Given the description of an element on the screen output the (x, y) to click on. 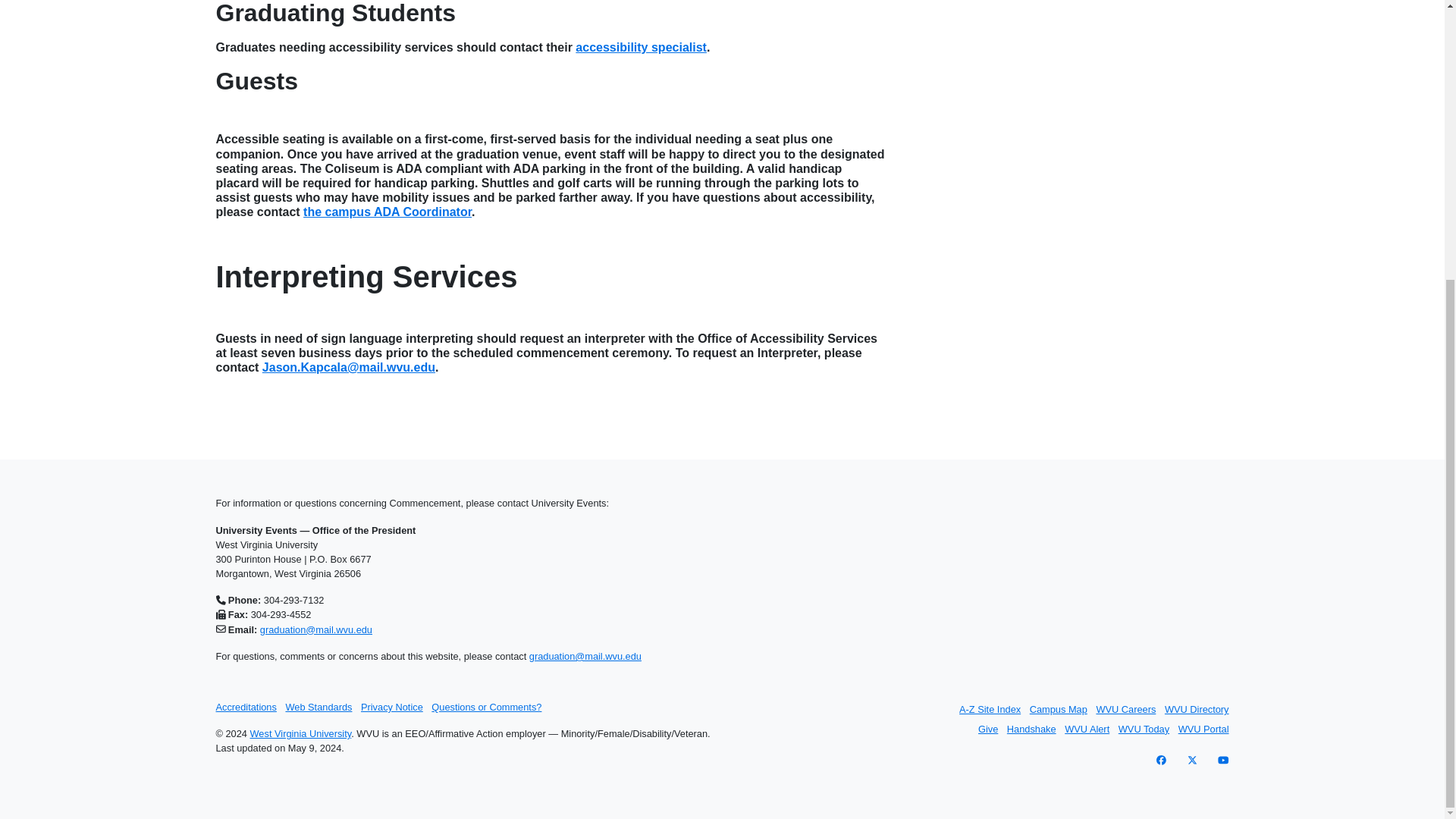
Accreditations (245, 706)
accessibility specialist (640, 47)
Web Standards (318, 706)
Privacy Notice (392, 706)
the campus ADA Coordinator (386, 211)
